Given the description of an element on the screen output the (x, y) to click on. 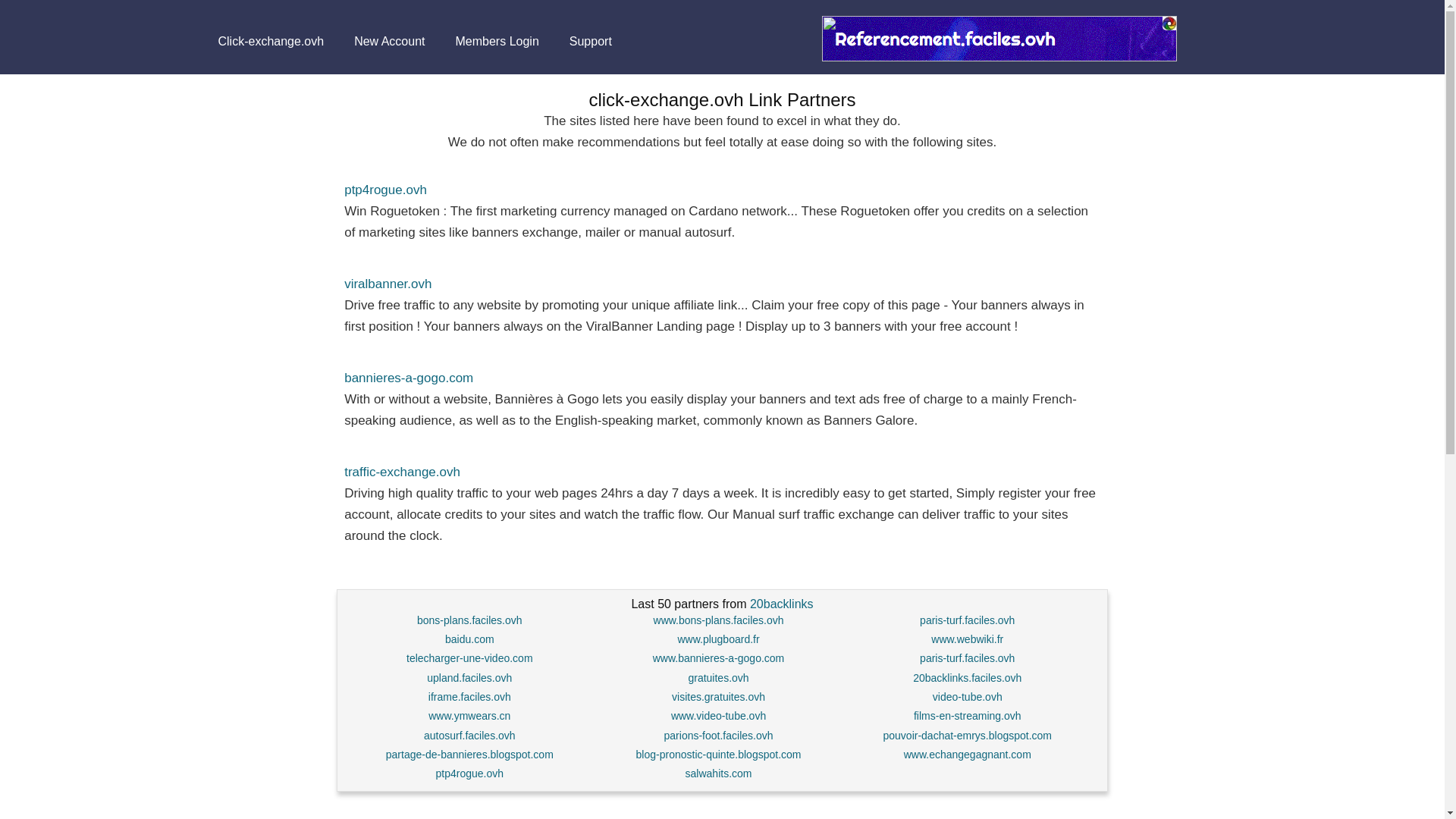
Click-exchange.ovh (271, 41)
www.echangegagnant.com (967, 754)
paris-turf.faciles.ovh (967, 657)
20backlinks (781, 603)
traffic-exchange.ovh (401, 472)
New Account (389, 41)
paris-turf.faciles.ovh (967, 620)
upland.faciles.ovh (469, 677)
20backlinks.faciles.ovh (967, 677)
parions-foot.faciles.ovh (718, 735)
baidu.com (470, 639)
bons-plans.faciles.ovh (469, 620)
www.video-tube.ovh (718, 715)
visites.gratuites.ovh (718, 696)
bannieres-a-gogo.com (408, 377)
